Given the description of an element on the screen output the (x, y) to click on. 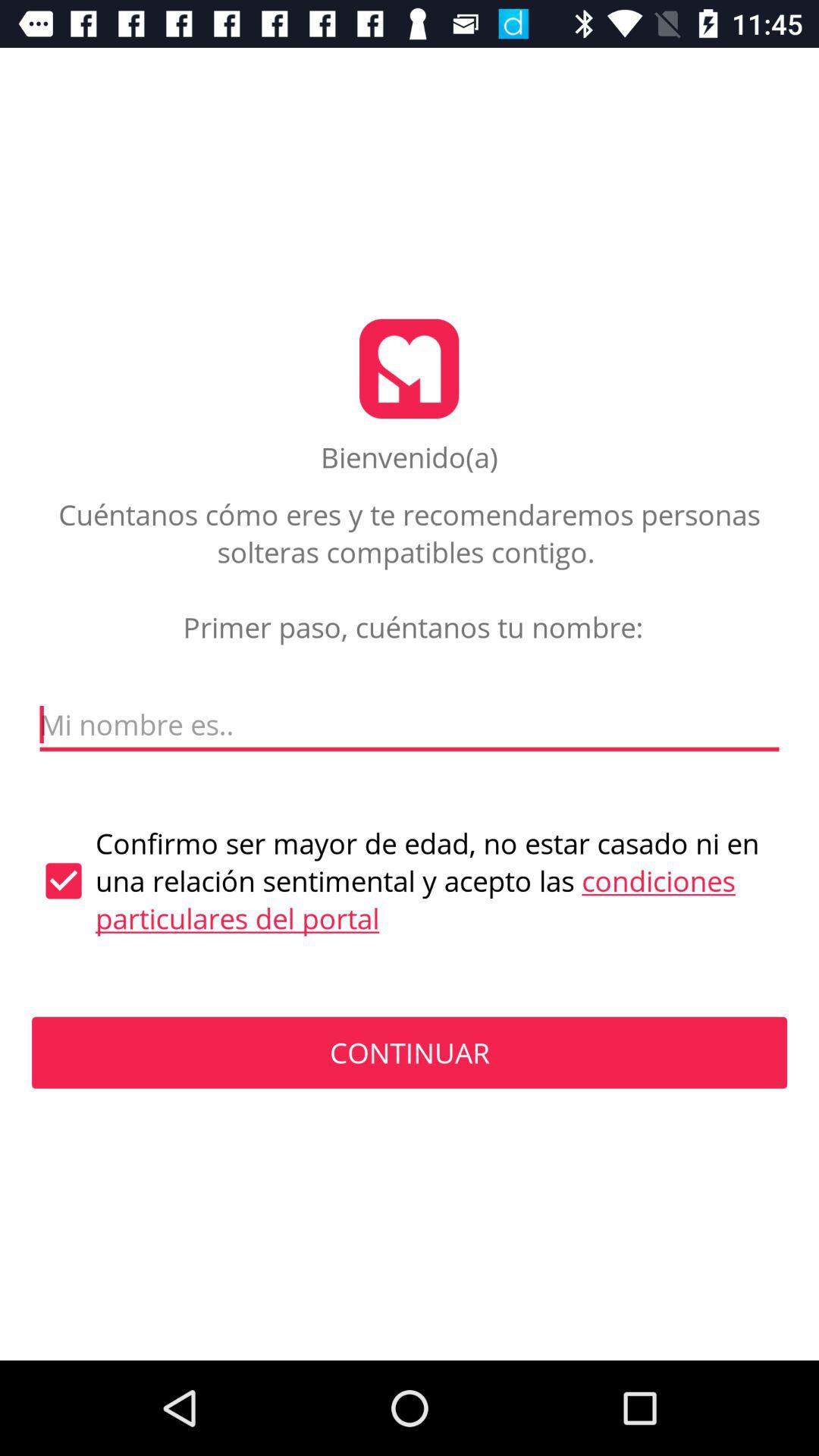
select the icon above continuar icon (409, 880)
